Given the description of an element on the screen output the (x, y) to click on. 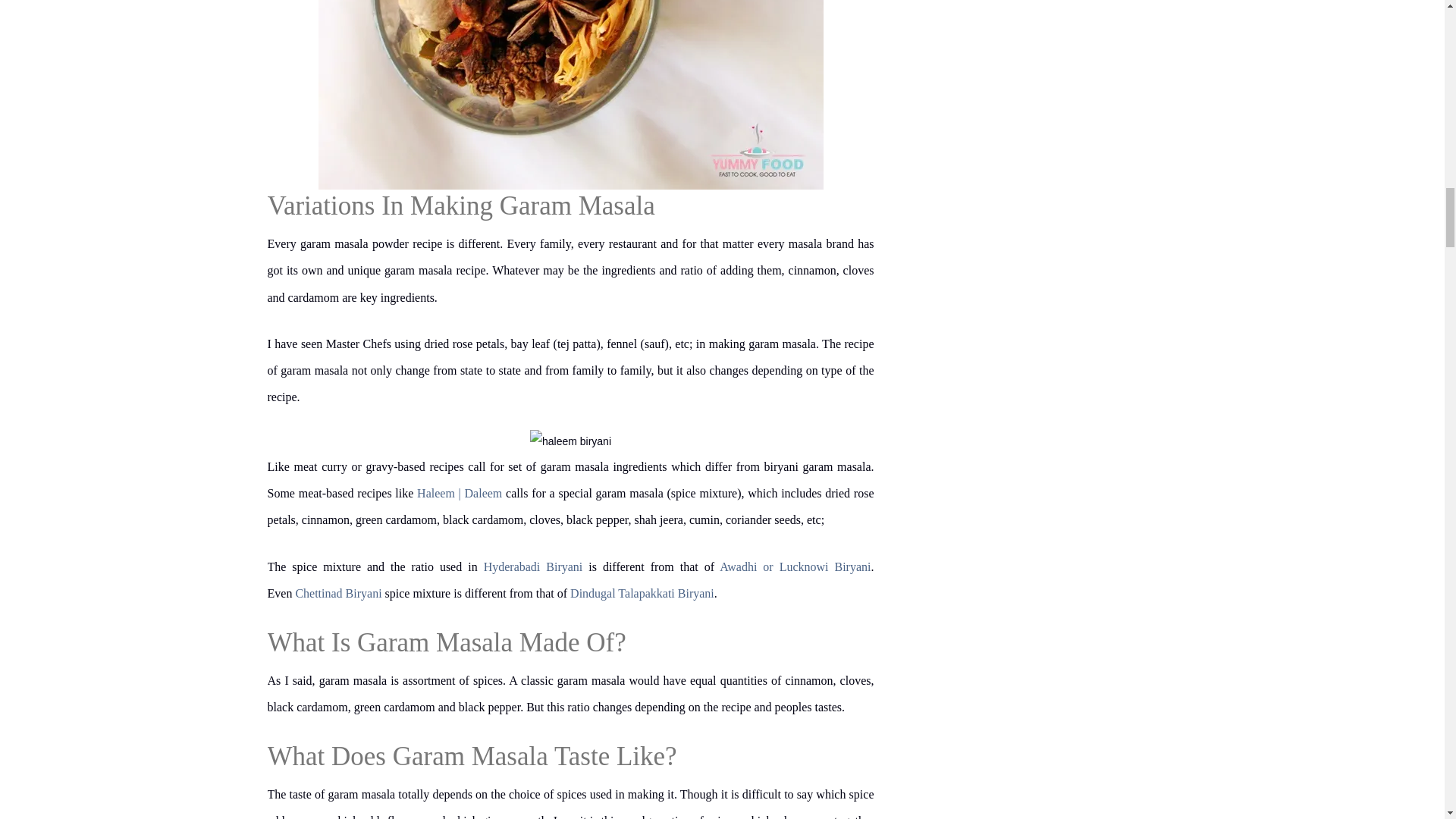
Chettinad Biryani (338, 593)
Hyderabadi Biryani (533, 566)
Dindugal Talapakkati Biryani (642, 593)
Awadhi or Lucknowi Biryani (794, 566)
